Given the description of an element on the screen output the (x, y) to click on. 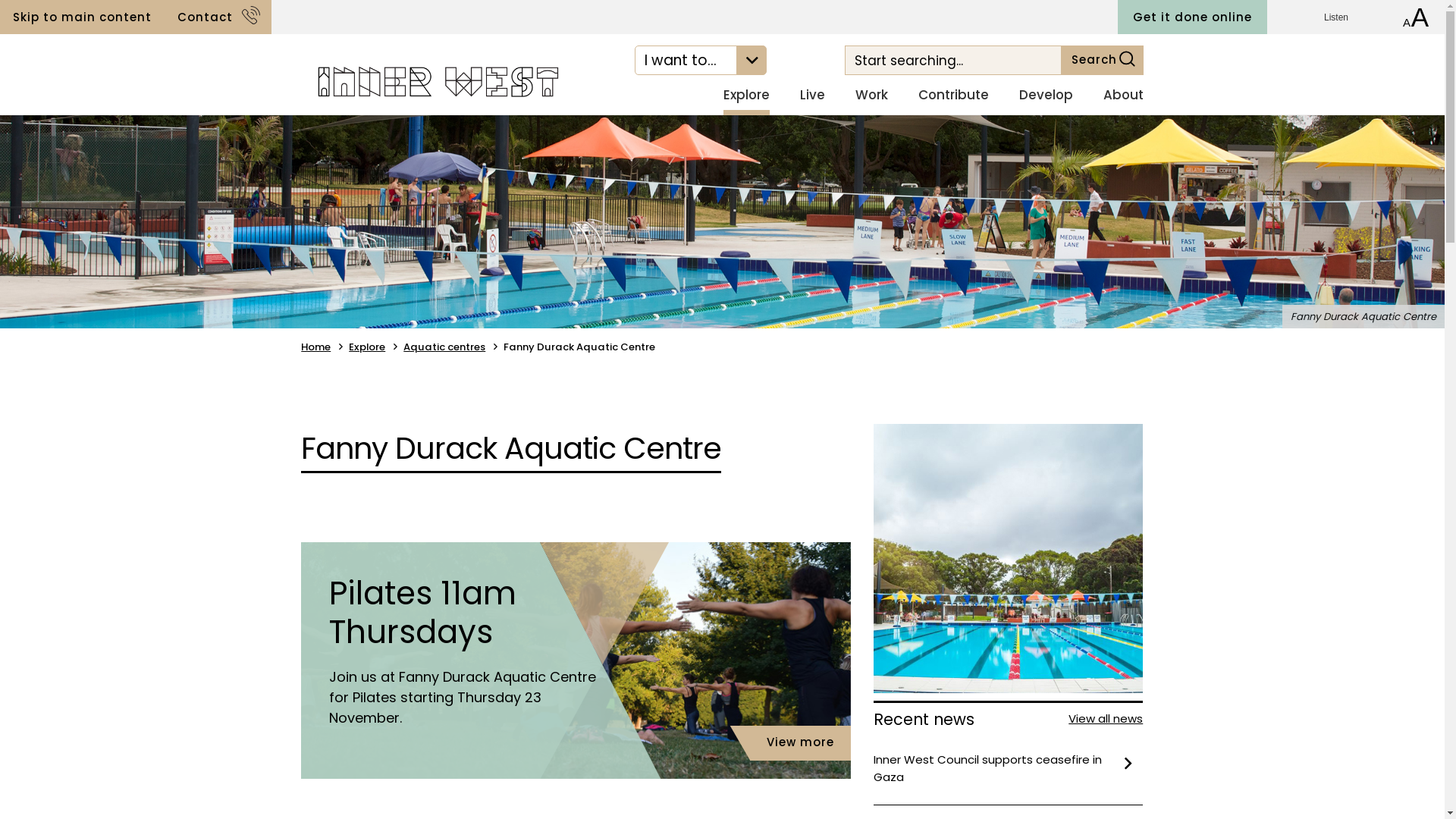
Home Element type: text (315, 346)
Decrease font size Element type: hover (1406, 17)
View all news Element type: text (1105, 718)
Explore Element type: text (366, 346)
Contact Element type: text (217, 17)
I want to...
I want to options Element type: text (700, 60)
Skip to main content Element type: text (82, 17)
Increase font size Element type: hover (1419, 17)
Search Element type: hover (952, 60)
Listen Element type: text (1344, 17)
inner west council logo Element type: hover (434, 79)
Aquatic centres Element type: text (444, 346)
Get it done online Element type: text (1192, 17)
View more Element type: text (799, 742)
Search Element type: text (1102, 60)
Inner West Council supports ceasefire in Gaza Element type: text (1007, 768)
Navigate to home page Element type: text (434, 79)
